Given the description of an element on the screen output the (x, y) to click on. 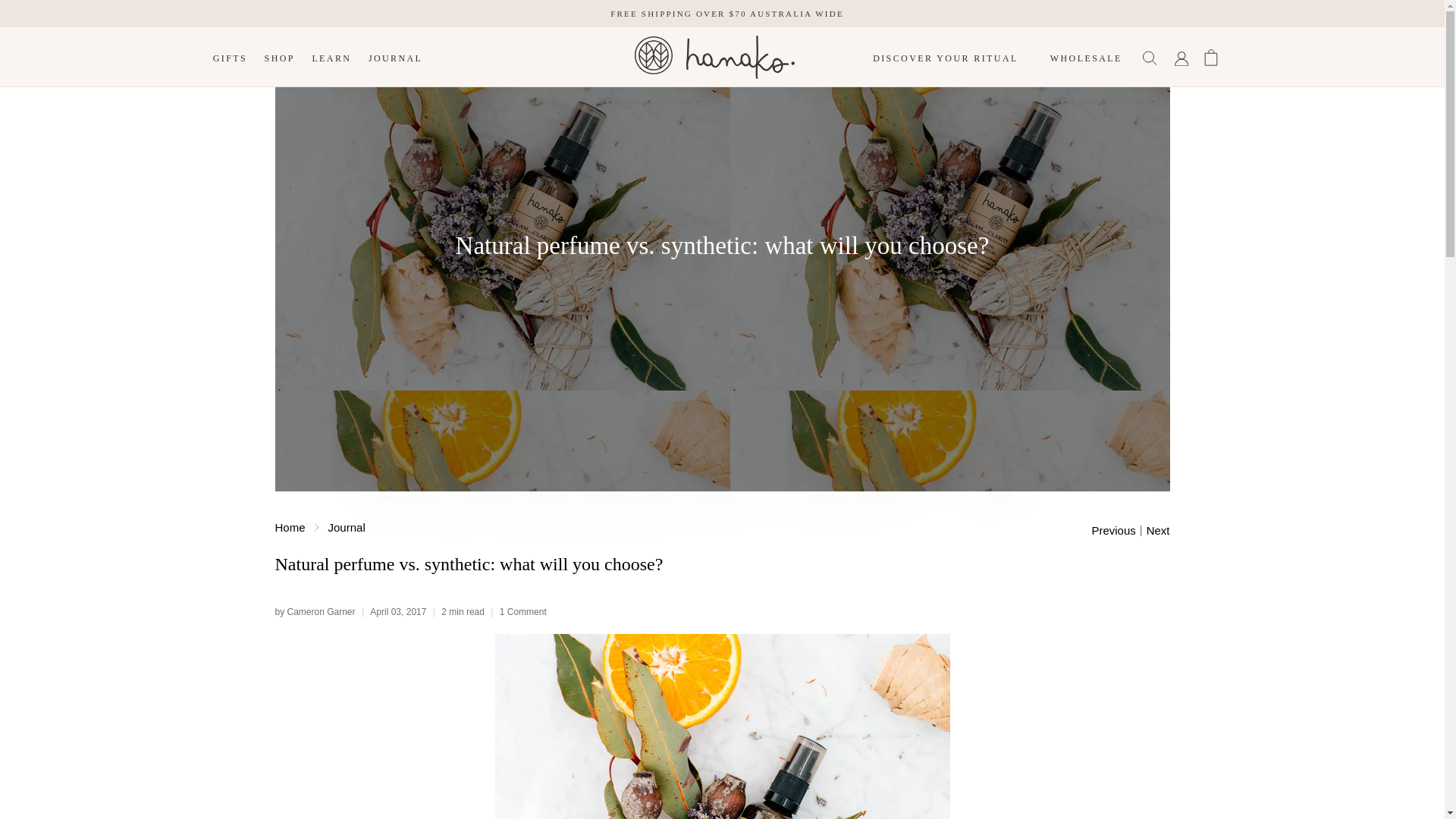
Next (1158, 530)
Journal (347, 527)
GIFTS (230, 56)
SHOP (279, 56)
Previous (1112, 530)
LEARN (330, 56)
DISCOVER YOUR RITUAL (945, 56)
JOURNAL (394, 56)
Hanako Therapies (289, 527)
WHOLESALE (1086, 56)
